Given the description of an element on the screen output the (x, y) to click on. 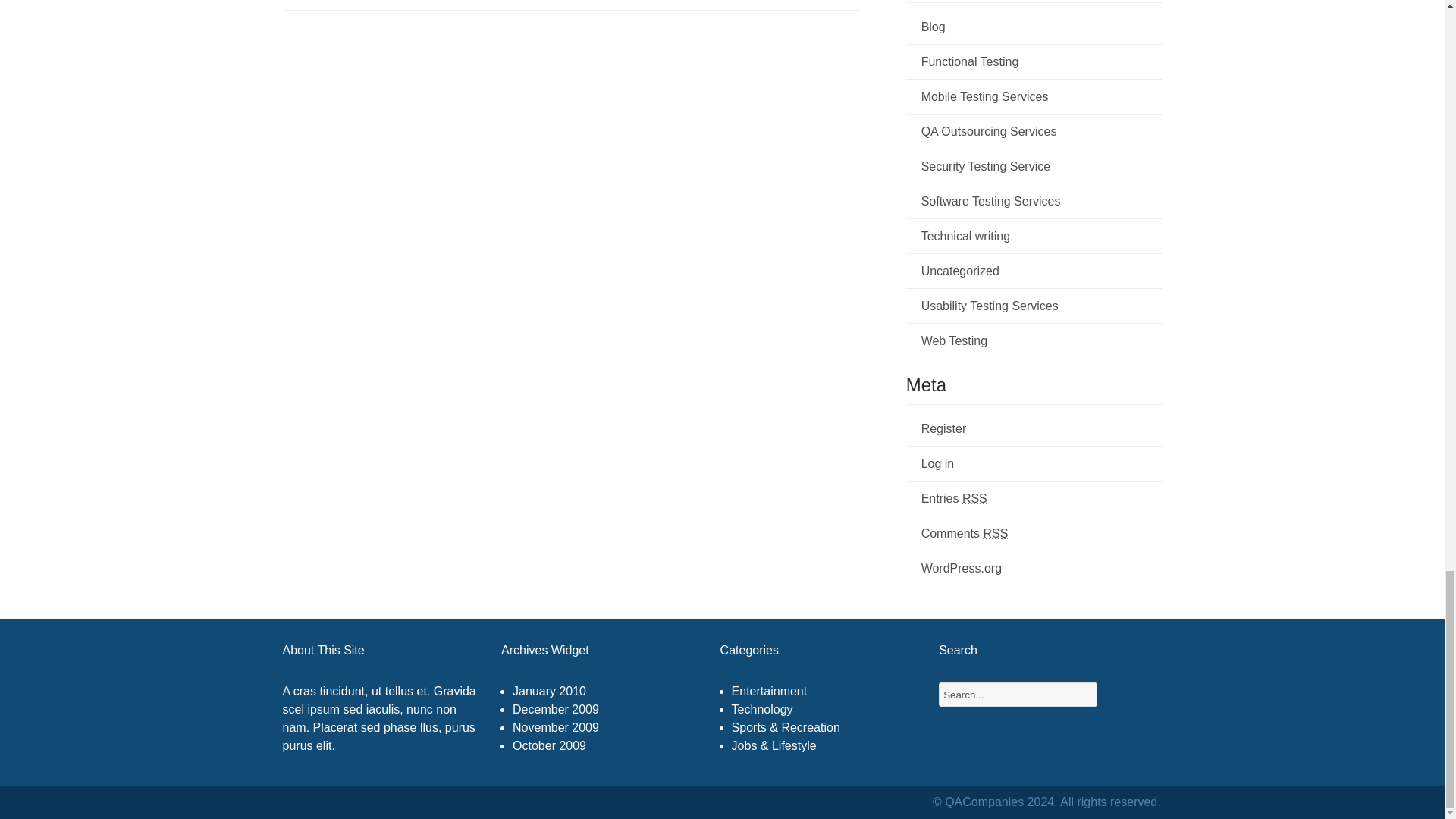
Really Simple Syndication (974, 498)
Search... (1018, 694)
Really Simple Syndication (994, 533)
Search... (1122, 694)
